Given the description of an element on the screen output the (x, y) to click on. 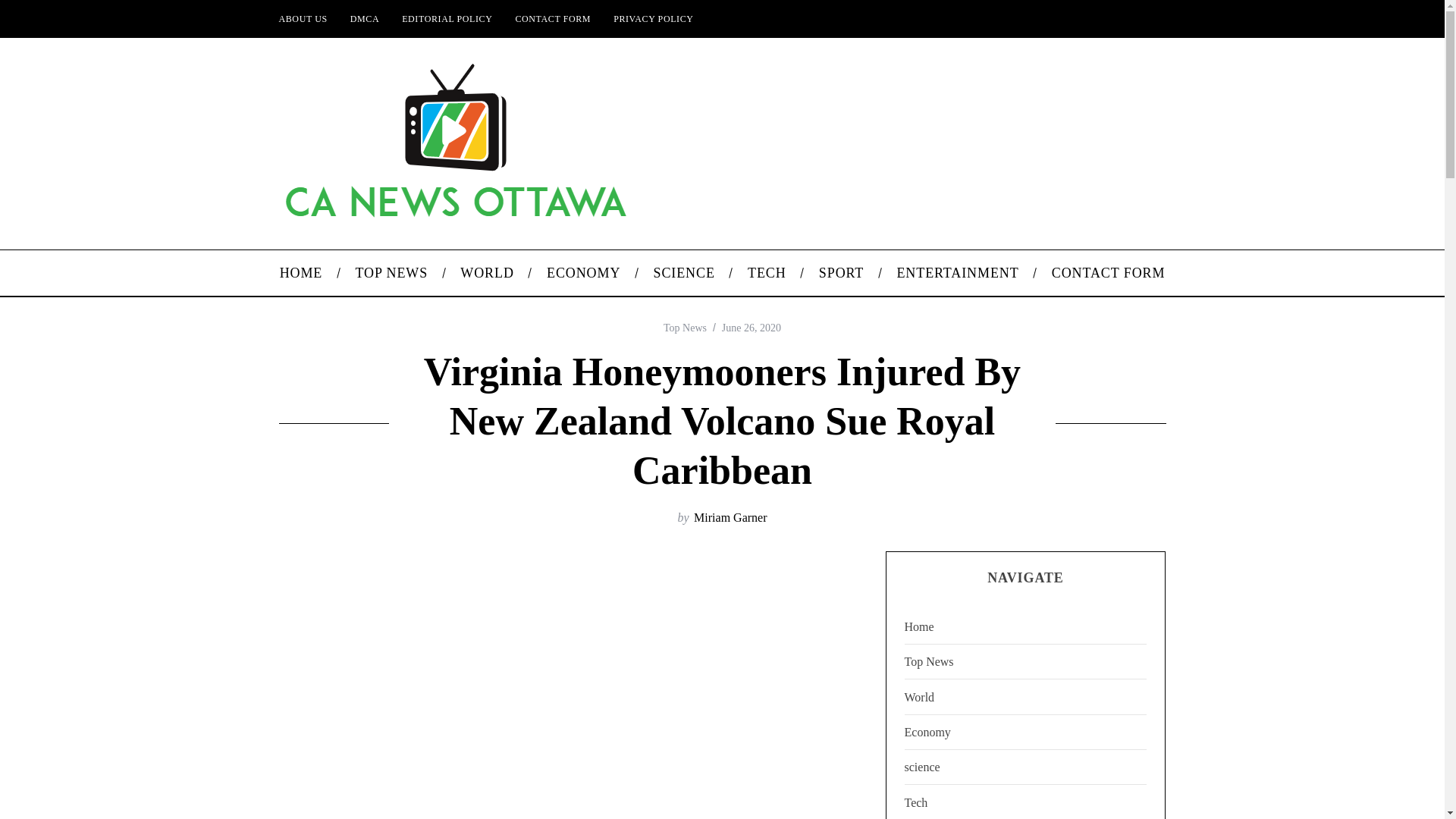
EDITORIAL POLICY (446, 18)
CONTACT FORM (552, 18)
CONTACT FORM (1107, 272)
PRIVACY POLICY (653, 18)
Top News (684, 327)
ENTERTAINMENT (957, 272)
SCIENCE (684, 272)
SPORT (841, 272)
TECH (766, 272)
Miriam Garner (730, 517)
